Given the description of an element on the screen output the (x, y) to click on. 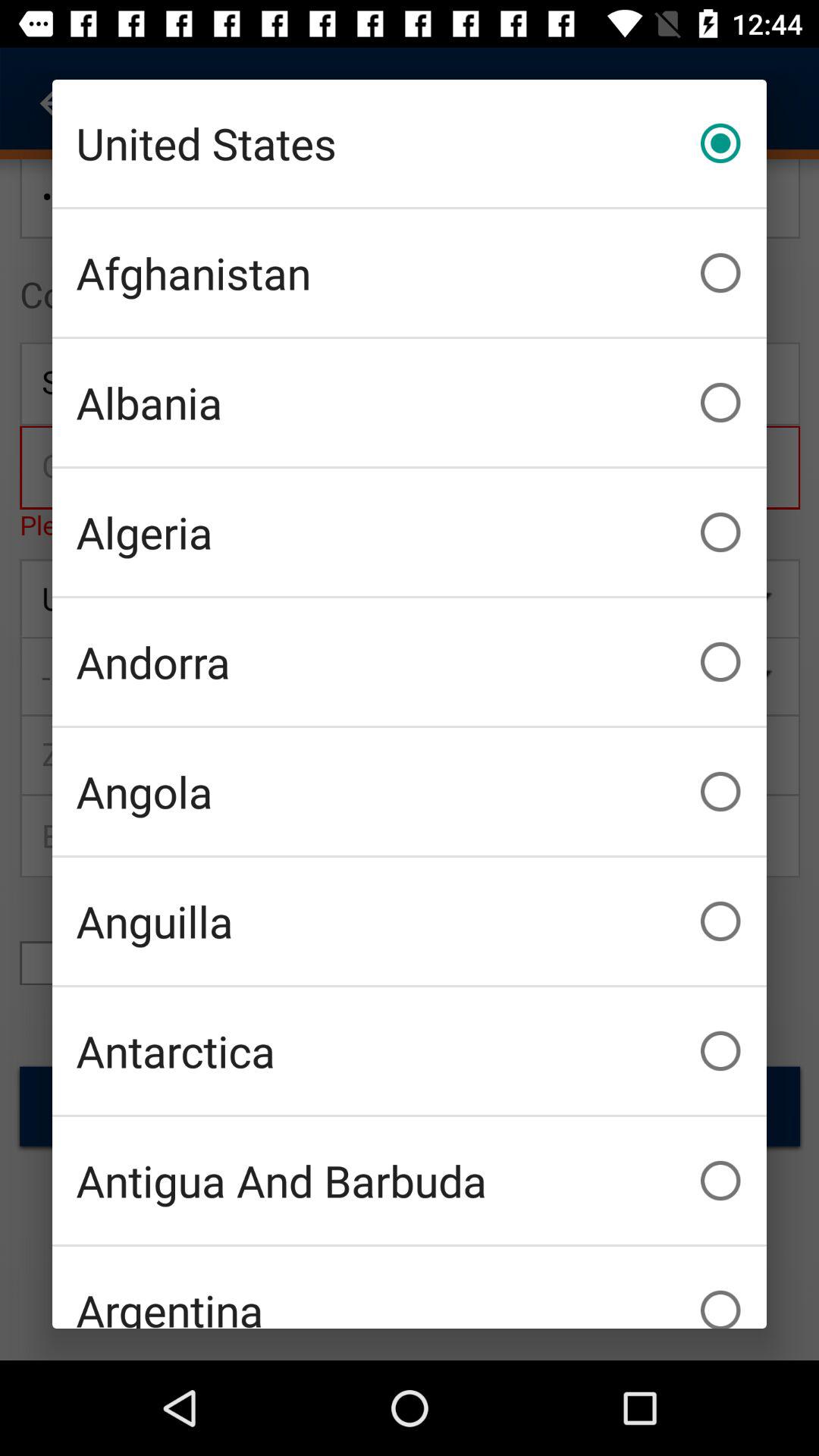
choose algeria (409, 532)
